Given the description of an element on the screen output the (x, y) to click on. 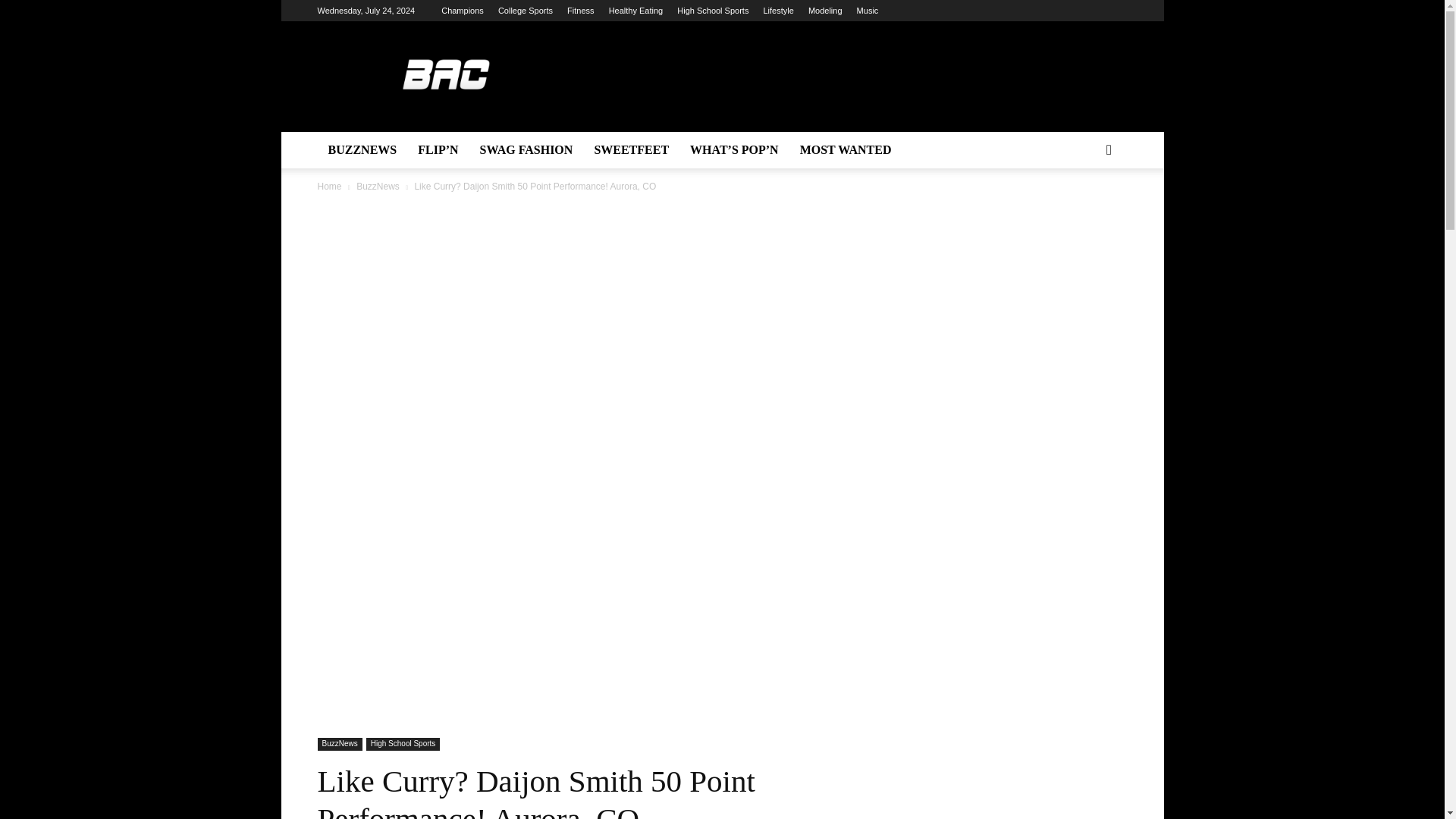
Music (868, 10)
Lifestyle (777, 10)
BUZZNEWS (362, 149)
Home (328, 185)
Healthy Eating (635, 10)
Fitness (580, 10)
SWAG FASHION (525, 149)
Search (1085, 210)
BuzzNews (377, 185)
View all posts in BuzzNews (377, 185)
MOST WANTED (845, 149)
BuzzNews (339, 744)
Modeling (825, 10)
High School Sports (712, 10)
Champions (462, 10)
